Given the description of an element on the screen output the (x, y) to click on. 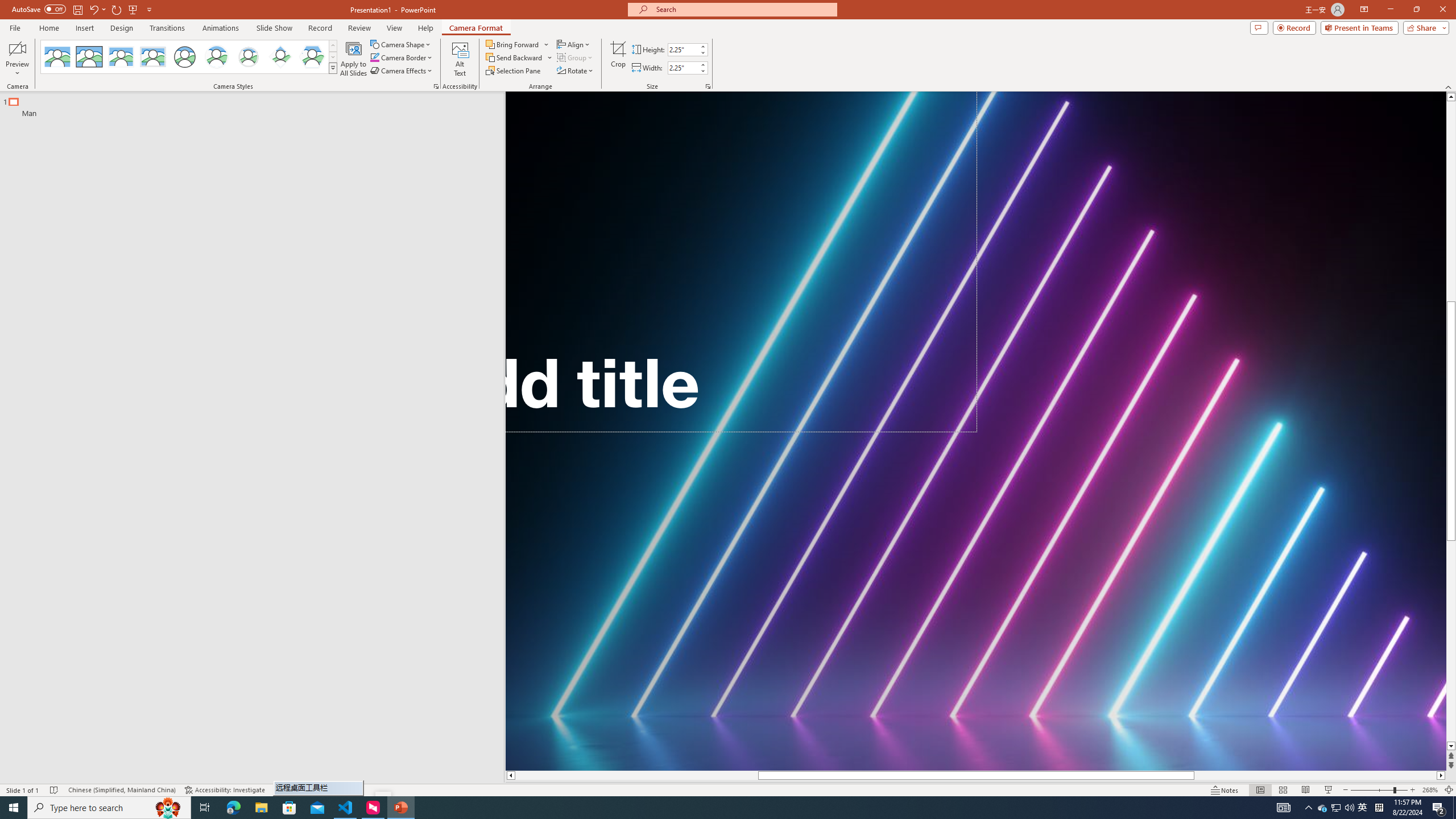
Center Shadow Circle (216, 56)
Center Shadow Diamond (280, 56)
Camera Effects (402, 69)
